Given the description of an element on the screen output the (x, y) to click on. 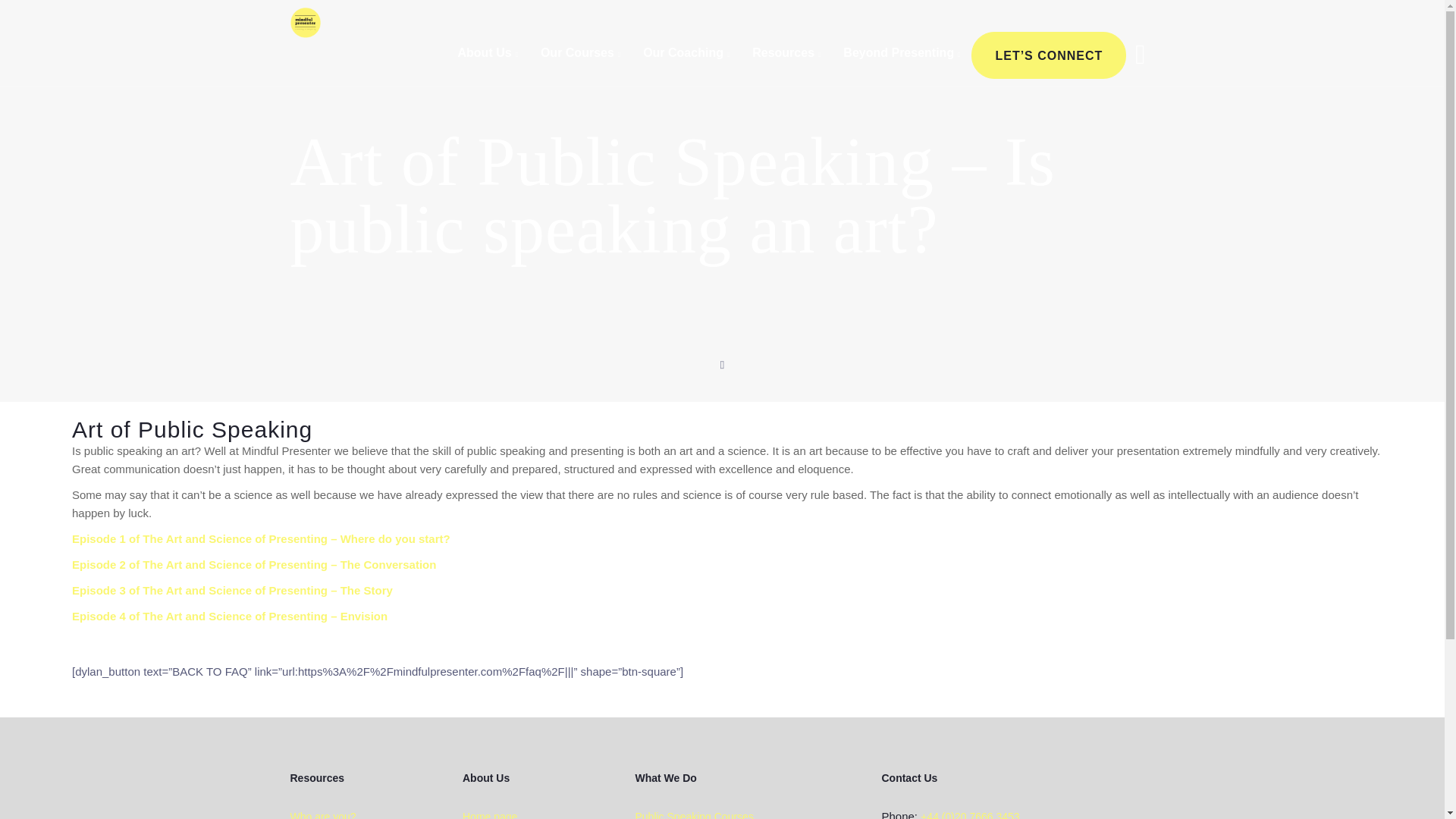
Our Courses (580, 54)
Our Coaching (686, 54)
Resources (786, 54)
About Us (487, 54)
